Given the description of an element on the screen output the (x, y) to click on. 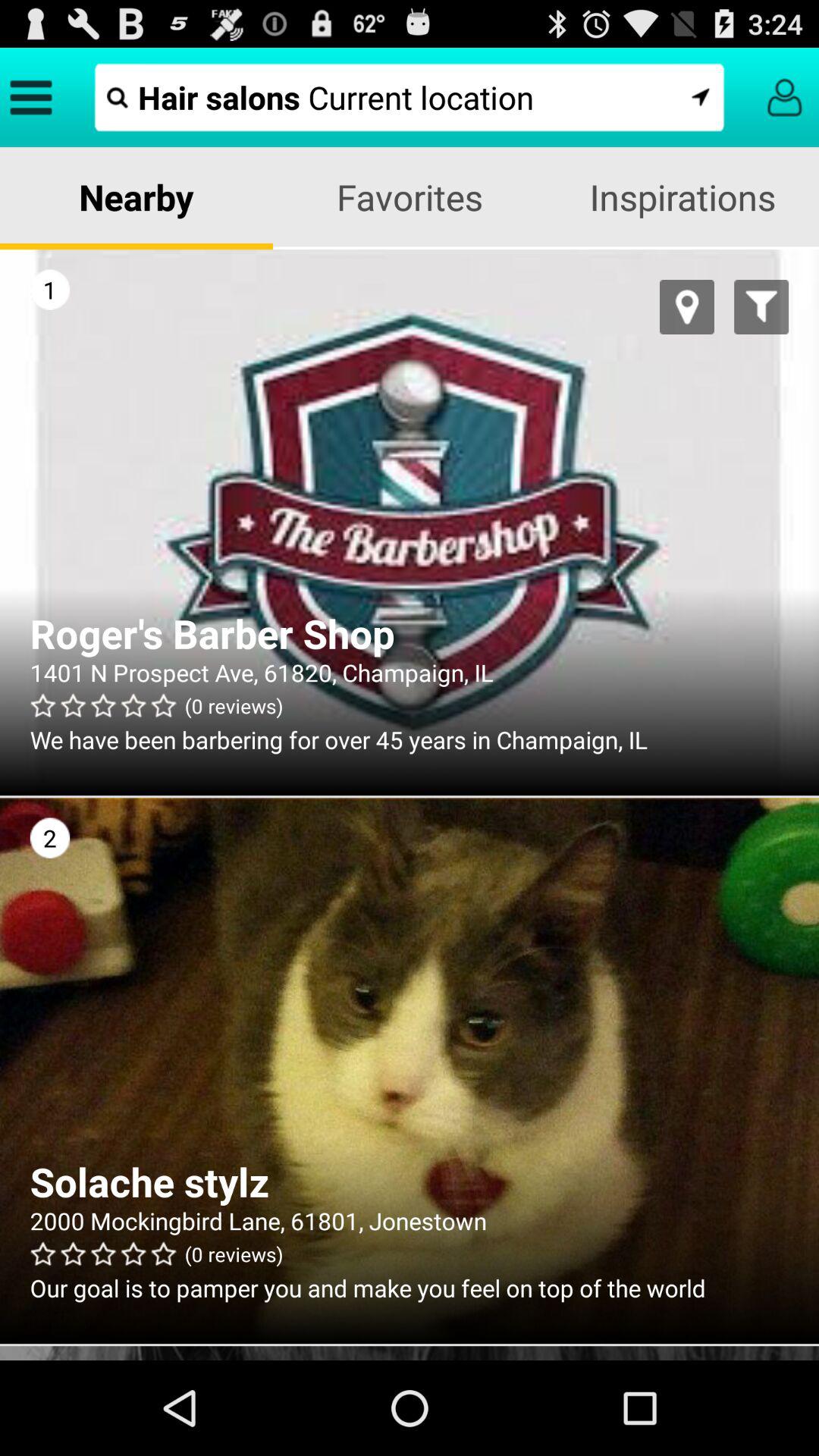
swipe to the nearby item (136, 196)
